Given the description of an element on the screen output the (x, y) to click on. 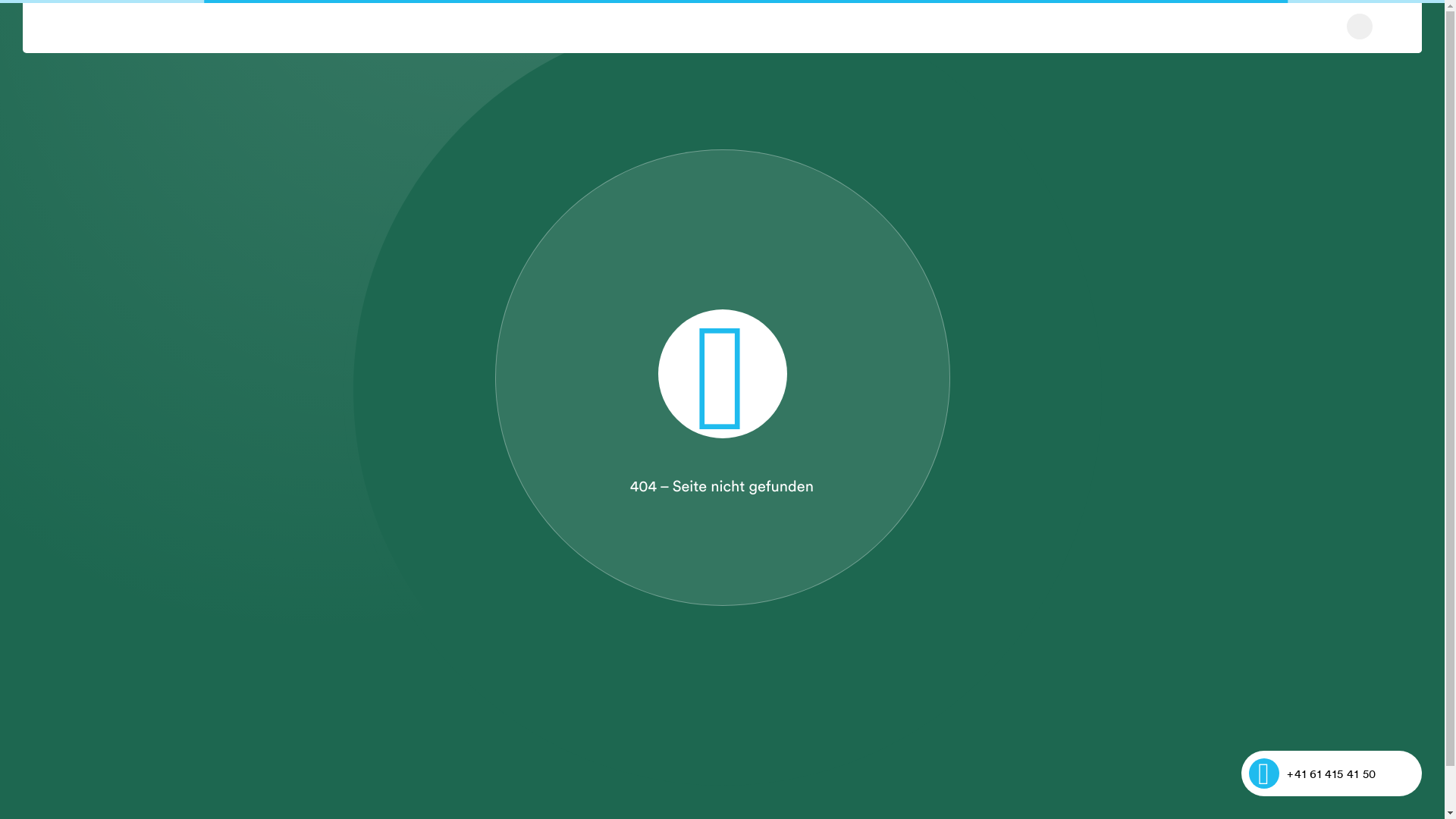
+41 61 415 41 50 Element type: text (1331, 773)
